Given the description of an element on the screen output the (x, y) to click on. 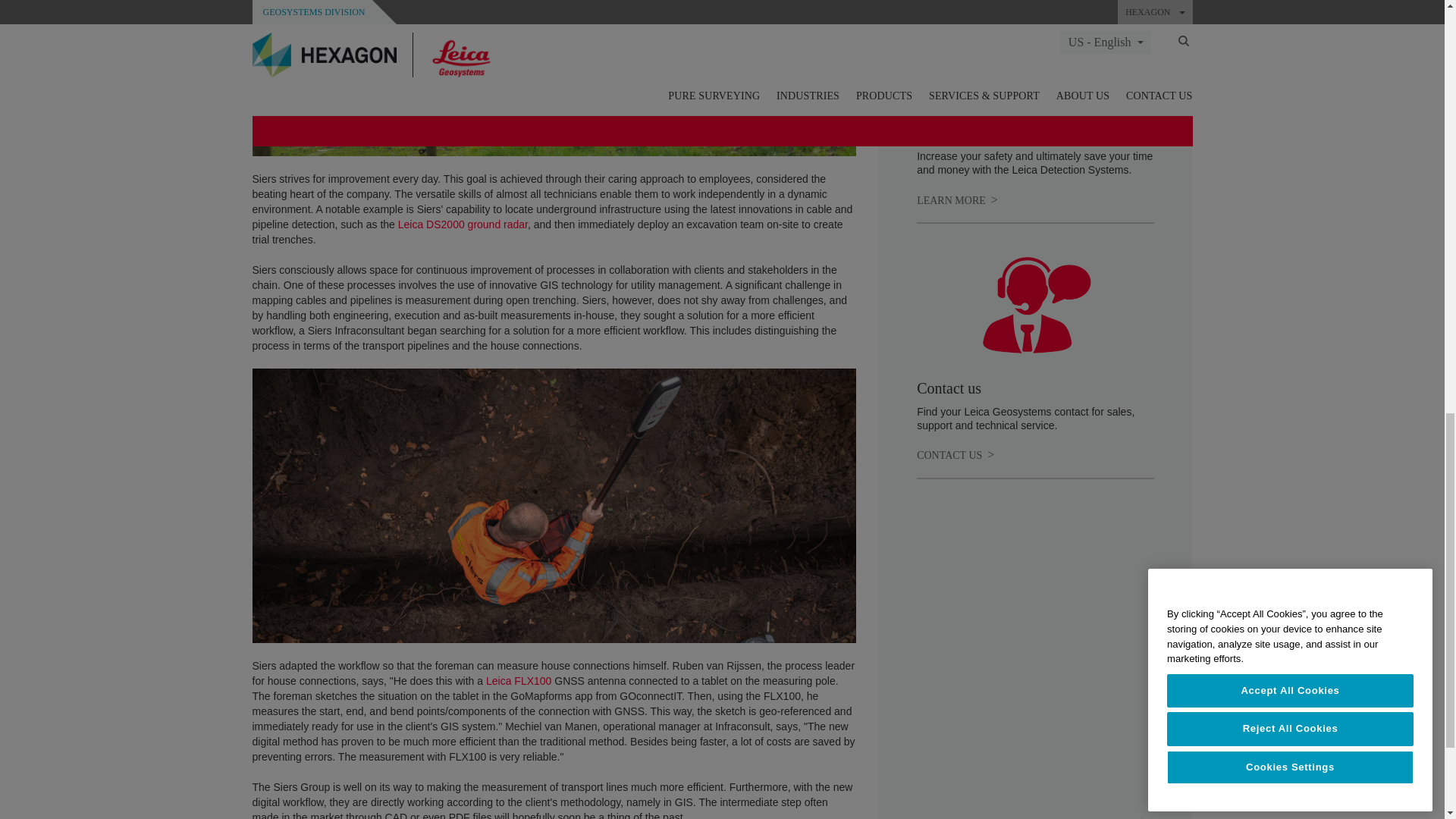
Detection Systems (957, 200)
